Given the description of an element on the screen output the (x, y) to click on. 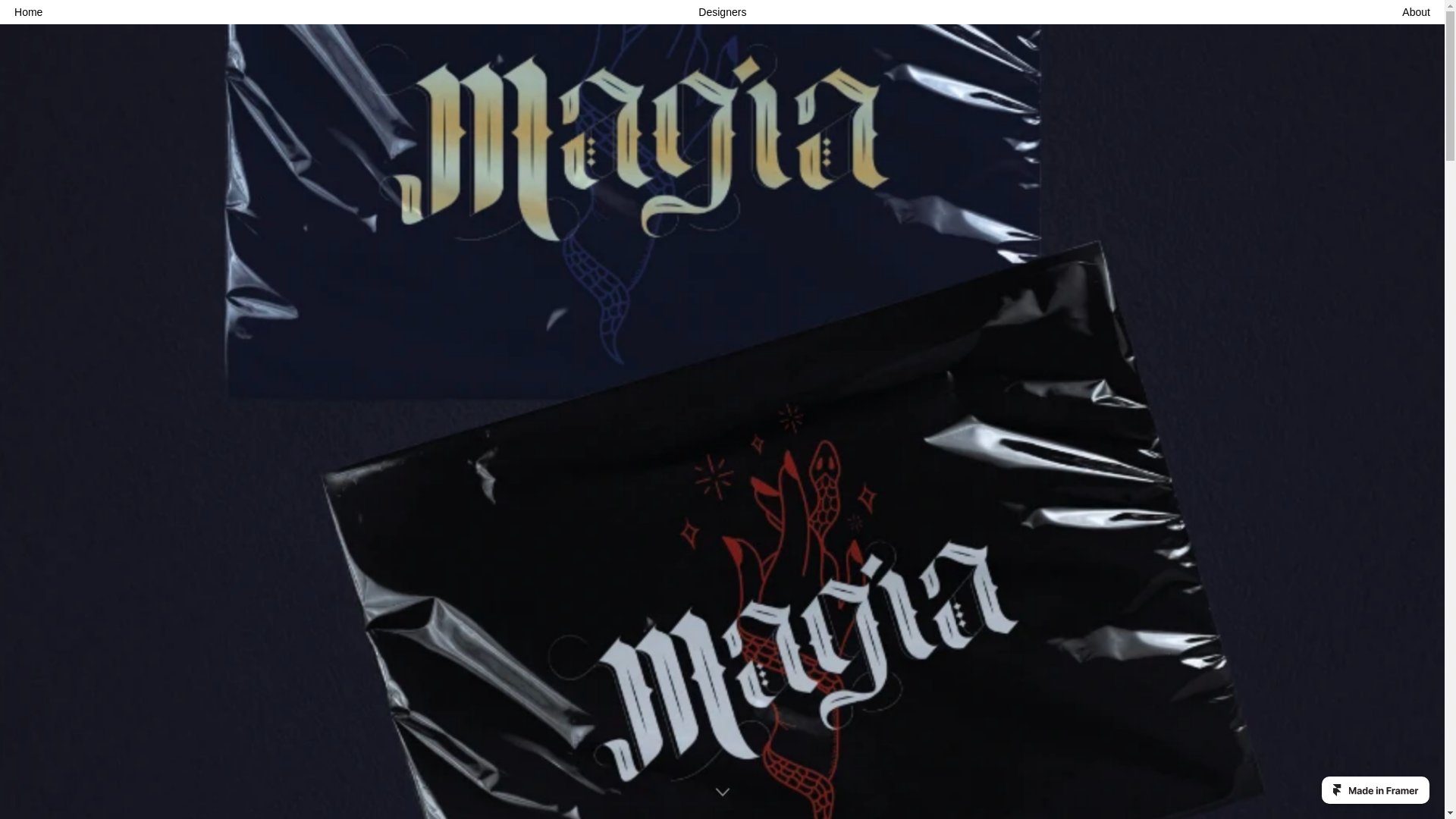
Home (28, 11)
Designers (721, 11)
About (1415, 11)
